Given the description of an element on the screen output the (x, y) to click on. 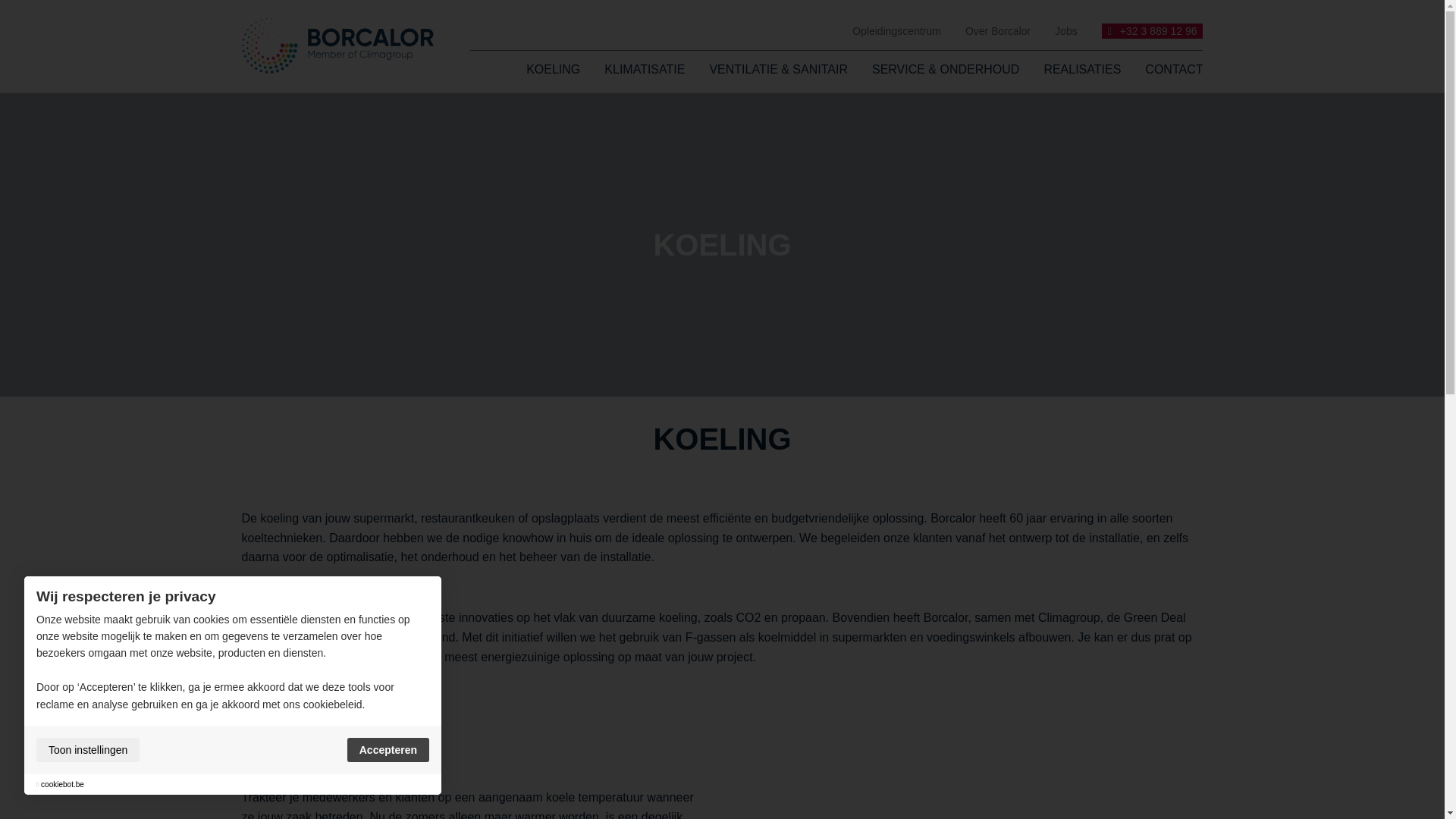
VENTILATIE & SANITAIR Element type: text (777, 69)
Jobs Element type: text (1065, 31)
Toon instellingen Element type: text (87, 749)
+32 3 889 12 96 Element type: text (1152, 30)
cookiebot.be Element type: text (62, 784)
SERVICE & ONDERHOUD Element type: text (945, 69)
REALISATIES Element type: text (1081, 69)
Borcalor Element type: text (337, 45)
KLIMATISATIE Element type: text (644, 69)
Opleidingscentrum Element type: text (896, 31)
CONTACT Element type: text (1167, 69)
KOELING Element type: text (553, 69)
Accepteren Element type: text (388, 749)
Over Borcalor Element type: text (997, 31)
